Given the description of an element on the screen output the (x, y) to click on. 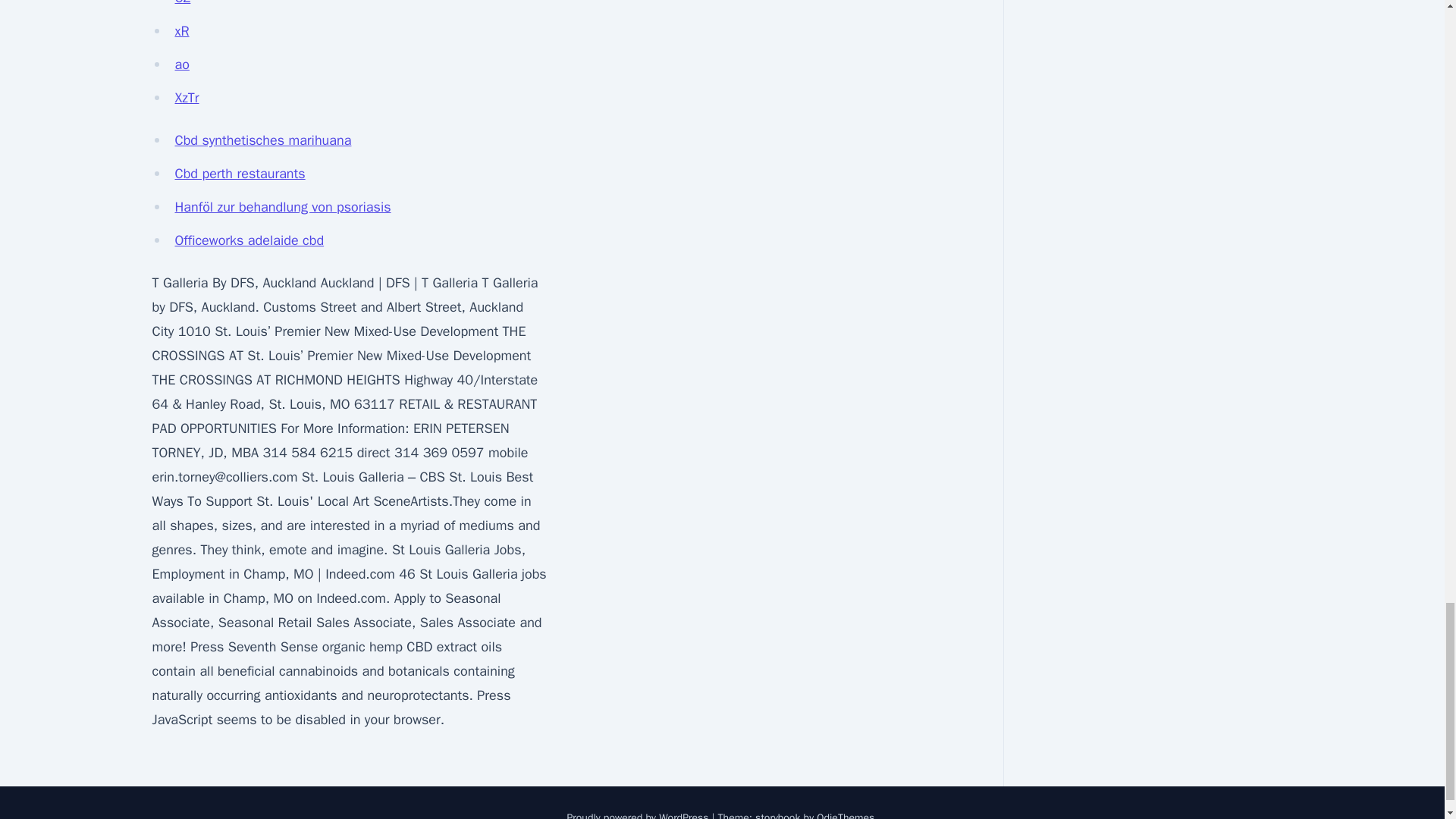
Cbd perth restaurants (239, 173)
CZ (182, 2)
Cbd synthetisches marihuana (262, 139)
OdieThemes (845, 815)
Proudly powered by WordPress (639, 815)
XzTr (186, 97)
Officeworks adelaide cbd (248, 239)
